Given the description of an element on the screen output the (x, y) to click on. 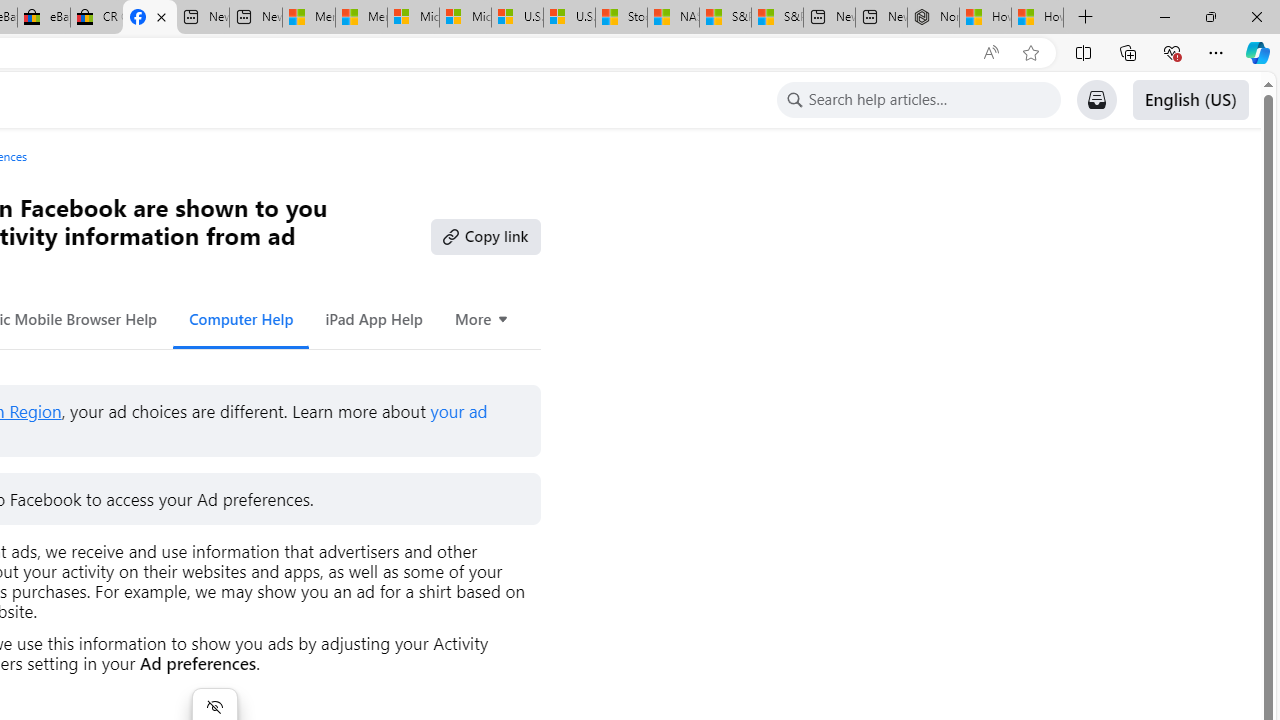
Computer Help (240, 318)
Support Inbox (1096, 99)
